Given the description of an element on the screen output the (x, y) to click on. 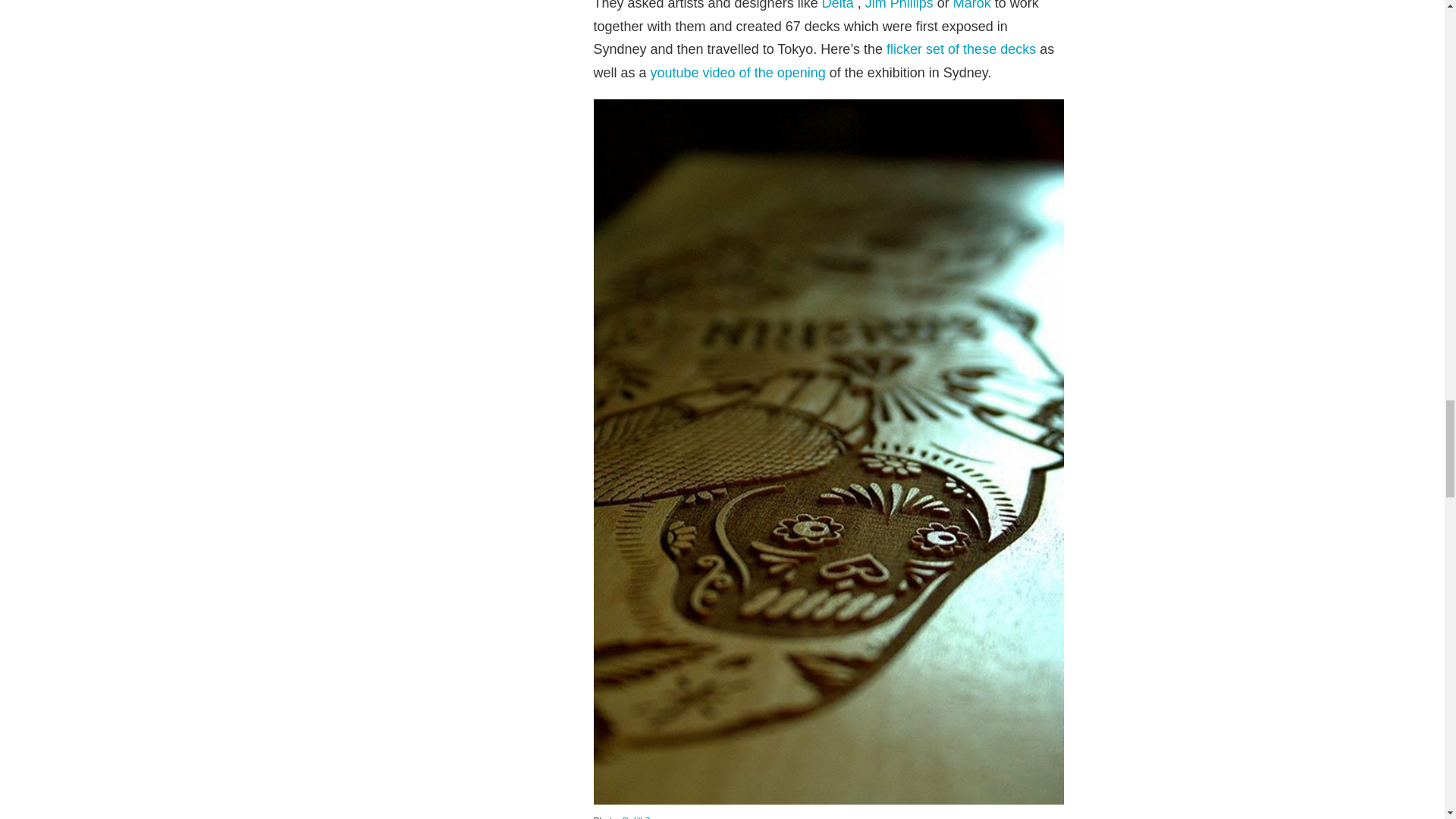
flicker set of these decks (960, 48)
Marok (972, 5)
Delta (837, 5)
youtube video of the opening (735, 72)
Refill 7 (636, 817)
Jim Phillips (898, 5)
